Given the description of an element on the screen output the (x, y) to click on. 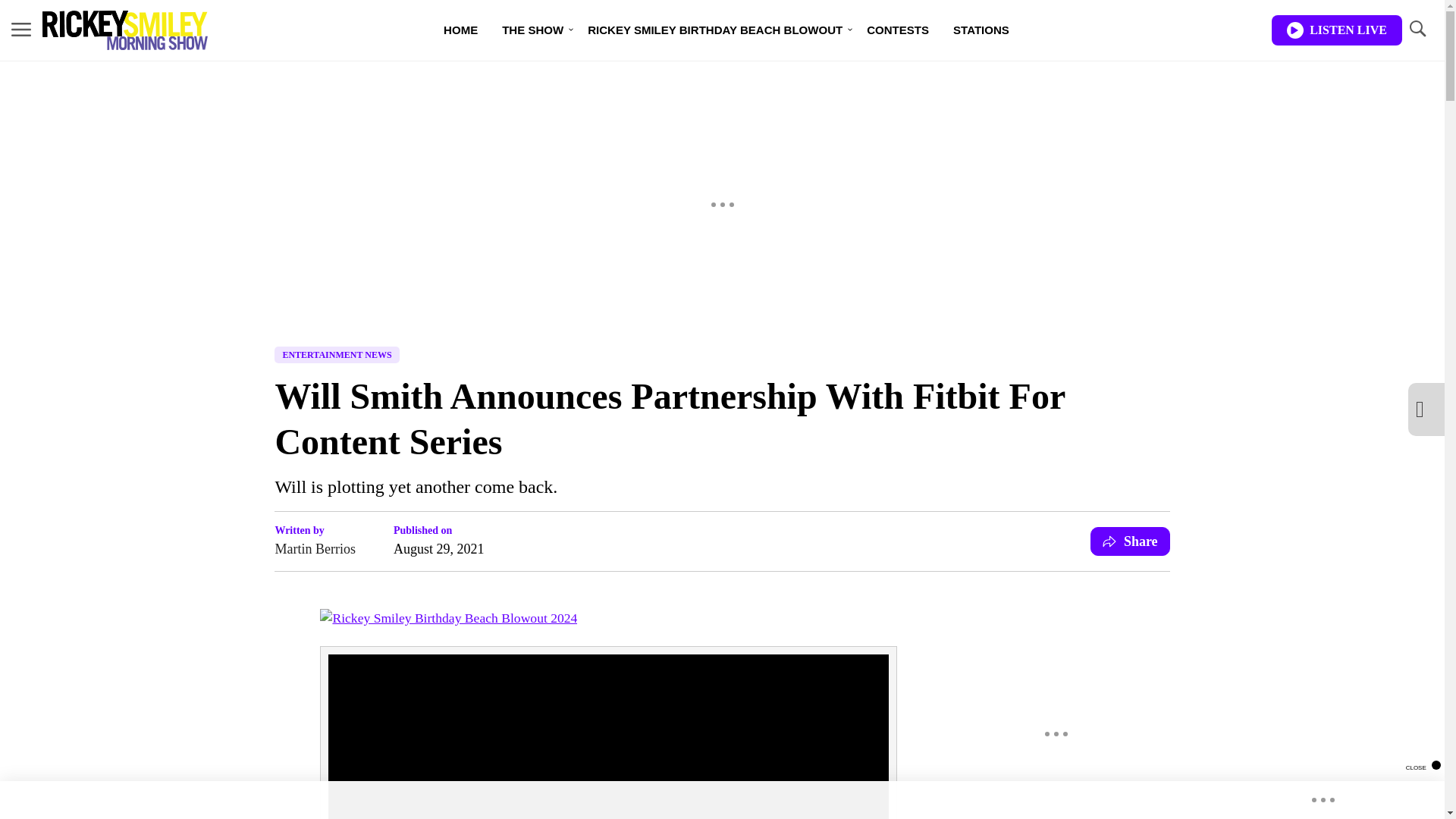
ENTERTAINMENT NEWS (336, 354)
Stations (981, 30)
TOGGLE SEARCH (1417, 30)
Martin Berrios (315, 548)
MENU (20, 29)
LISTEN LIVE (1336, 30)
MENU (20, 30)
HOME (459, 30)
CONTESTS (897, 30)
STATIONS (981, 30)
THE SHOW (532, 30)
TOGGLE SEARCH (1417, 28)
Share (1130, 541)
RICKEY SMILEY BIRTHDAY BEACH BLOWOUT (714, 30)
